Given the description of an element on the screen output the (x, y) to click on. 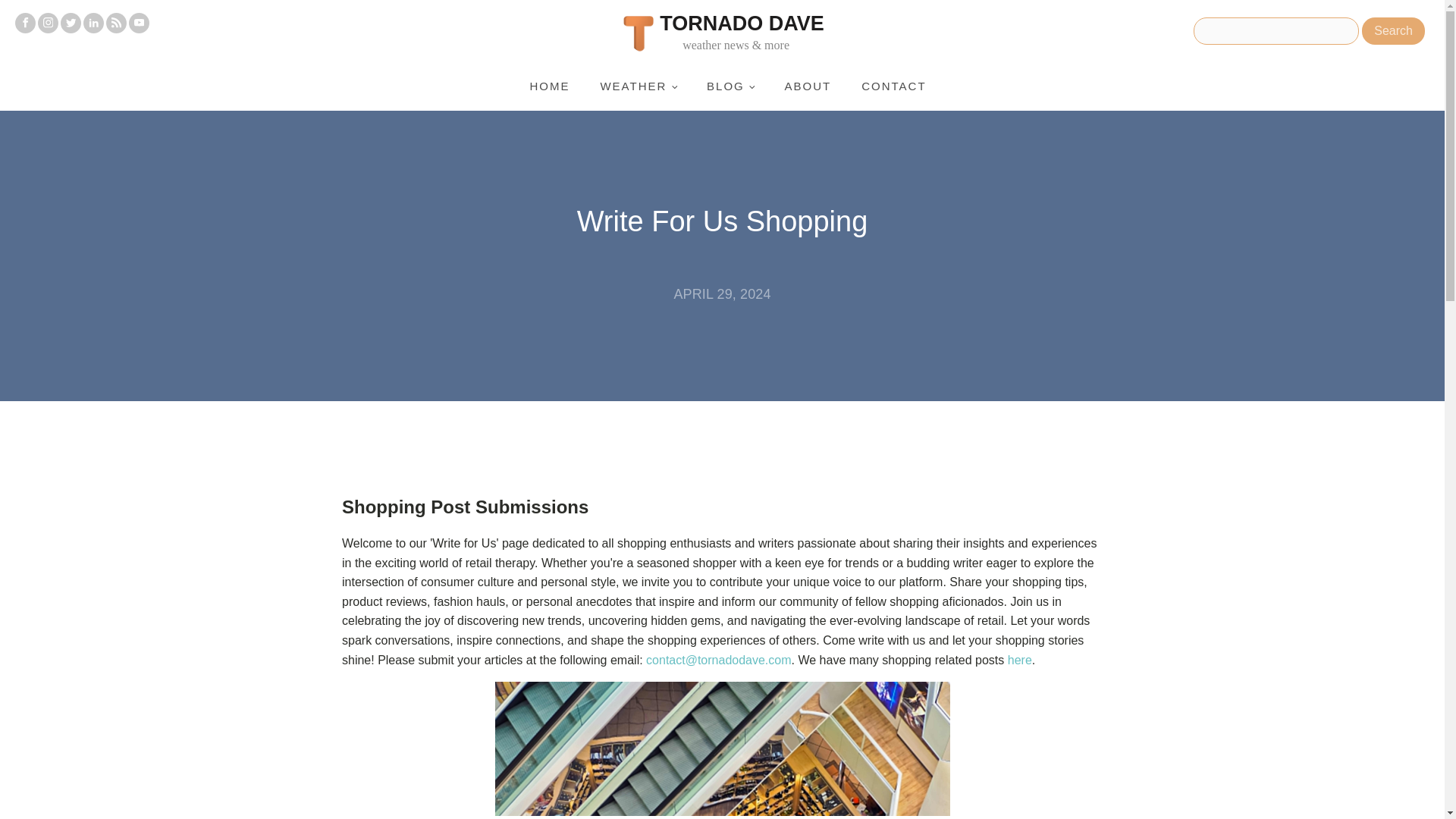
BLOG (729, 86)
here (1019, 659)
Search (1393, 31)
CONTACT (892, 86)
HOME (549, 86)
Search (1393, 31)
WEATHER (638, 86)
ABOUT (806, 86)
